Given the description of an element on the screen output the (x, y) to click on. 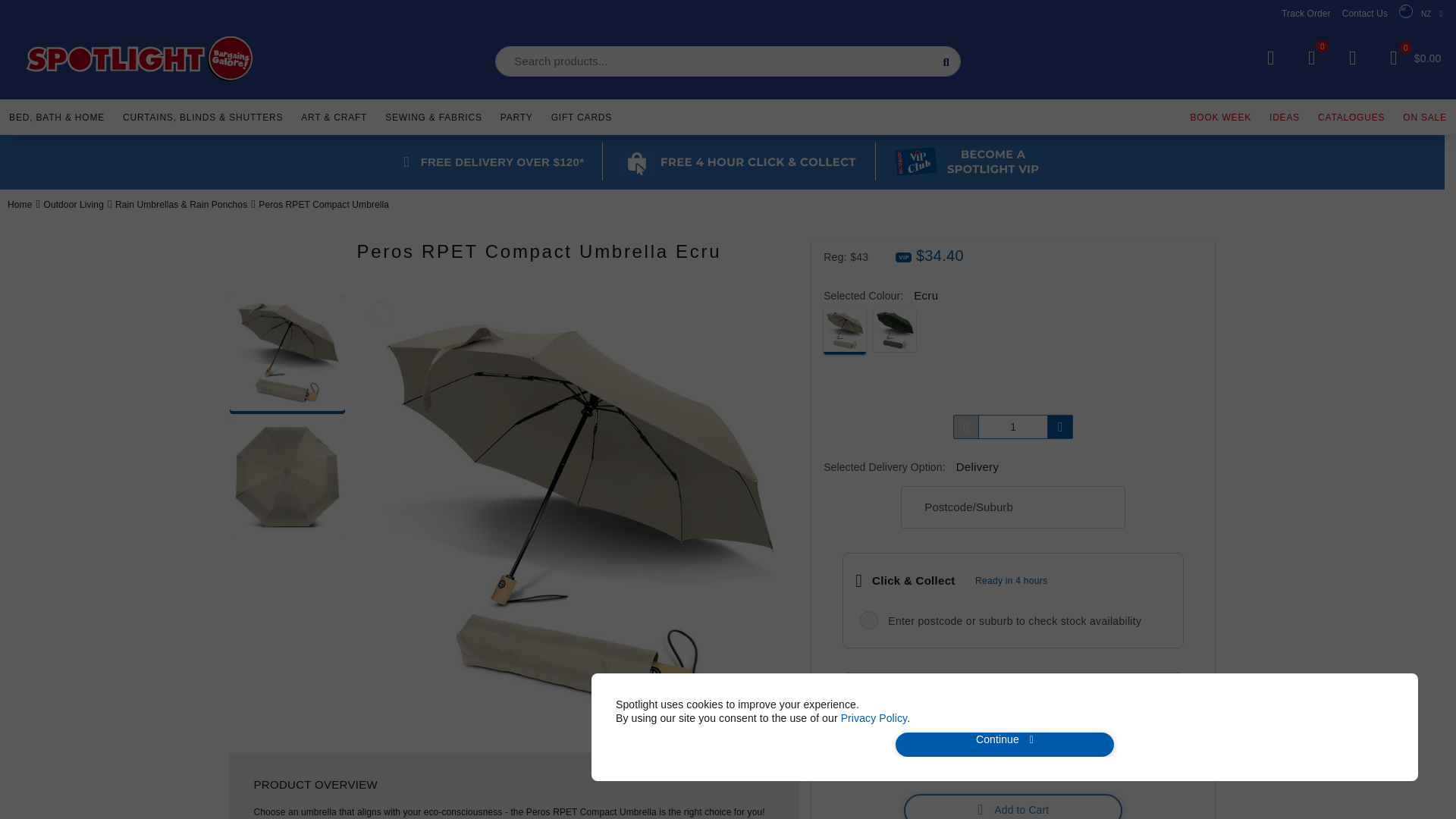
Party (516, 115)
Search for a product, brand or project (727, 60)
Gift Cards (581, 115)
Track Order (1305, 13)
NZ (1420, 13)
Contact Us (1364, 13)
0 (1393, 57)
Contact Us (1364, 13)
